Given the description of an element on the screen output the (x, y) to click on. 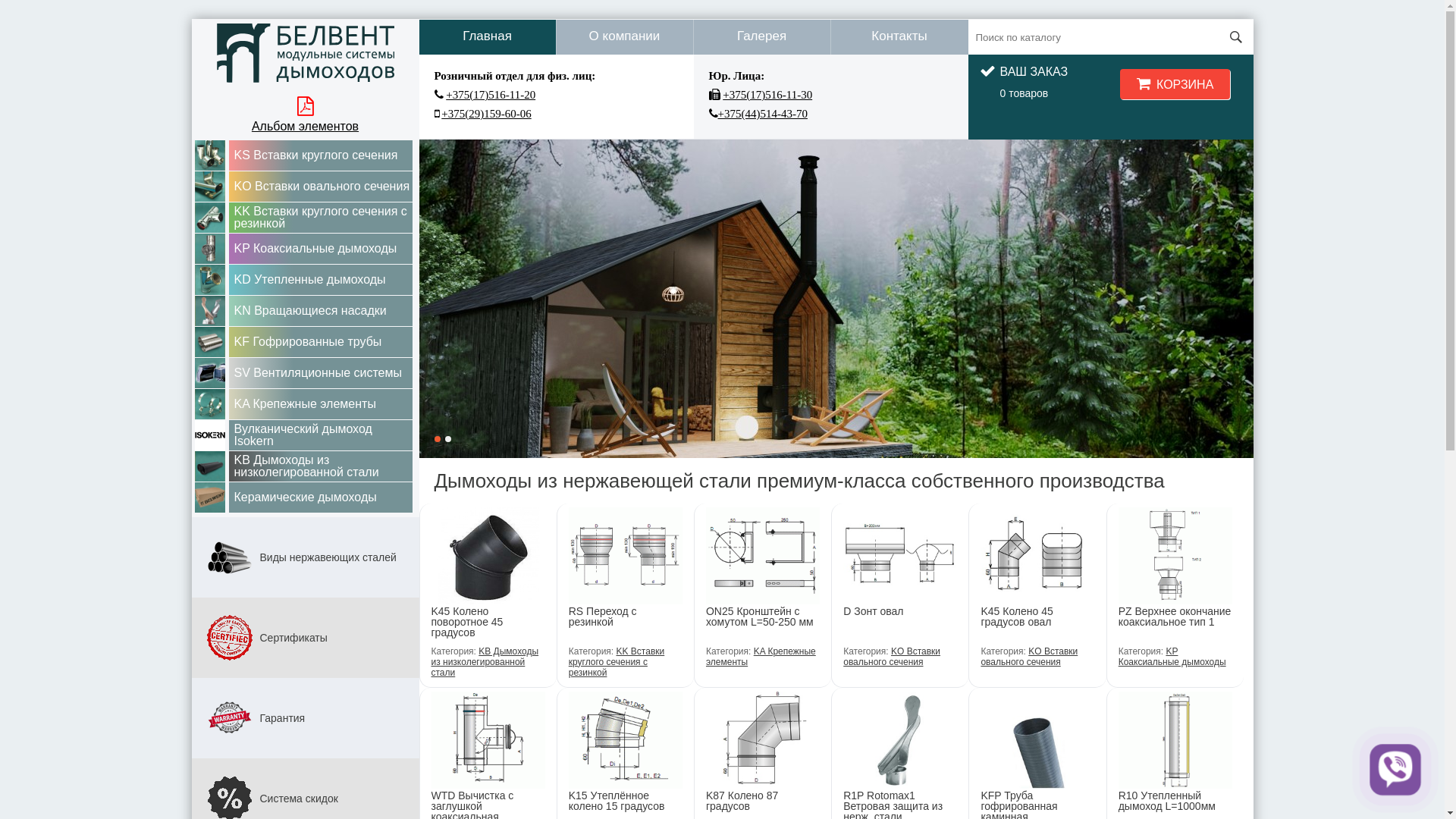
+375(29)159-60-06 Element type: text (485, 113)
+375(17)516-11-30 Element type: text (767, 94)
+375(44)514-43-70 Element type: text (761, 113)
2 Element type: text (447, 439)
1 Element type: text (436, 439)
+375(17)516-11-20 Element type: text (490, 94)
